Given the description of an element on the screen output the (x, y) to click on. 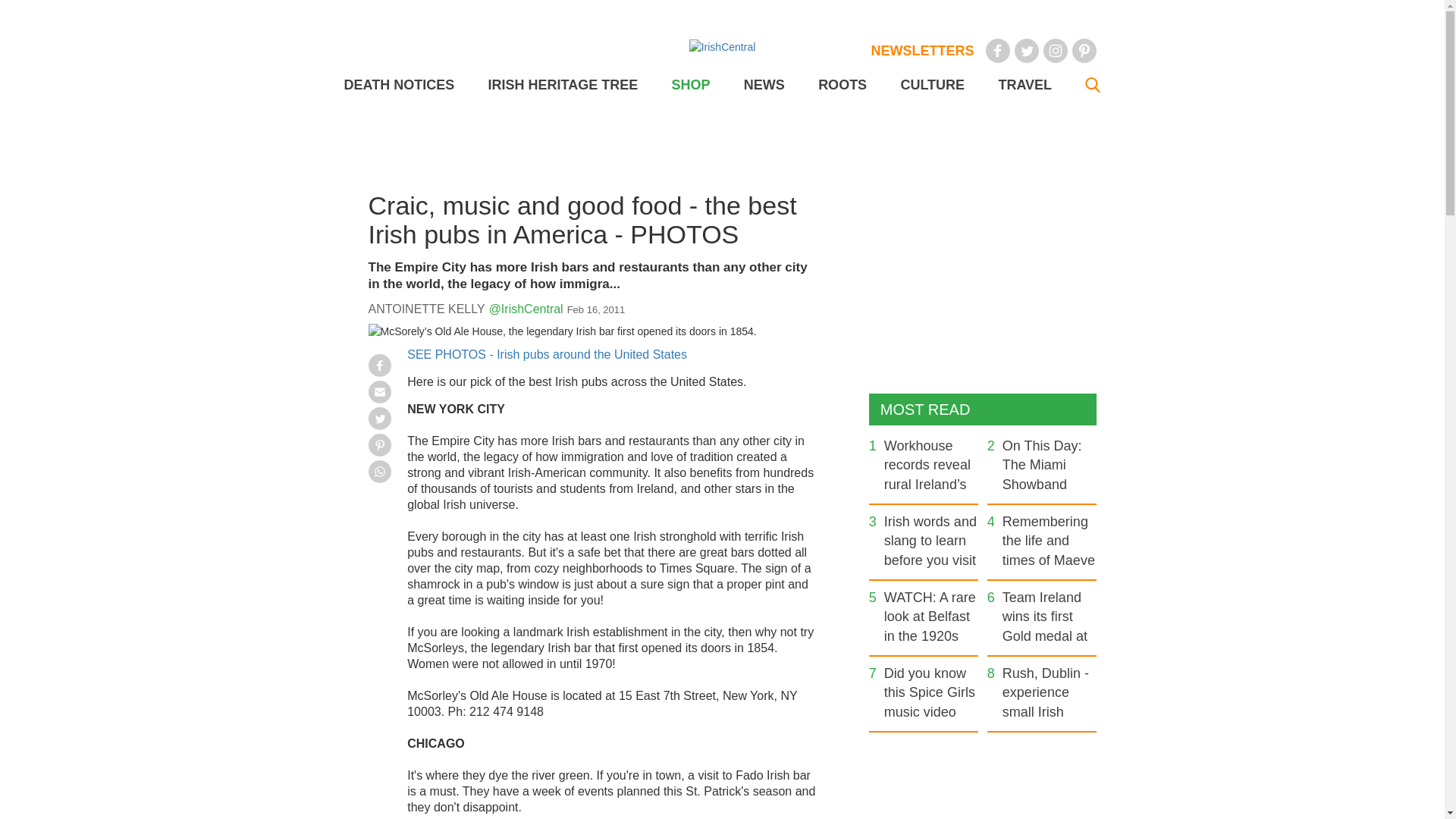
NEWSLETTERS (922, 50)
DEATH NOTICES (398, 84)
ROOTS (842, 84)
CULTURE (931, 84)
IRISH HERITAGE TREE (562, 84)
SHOP (690, 84)
NEWS (764, 84)
TRAVEL (1024, 84)
